Given the description of an element on the screen output the (x, y) to click on. 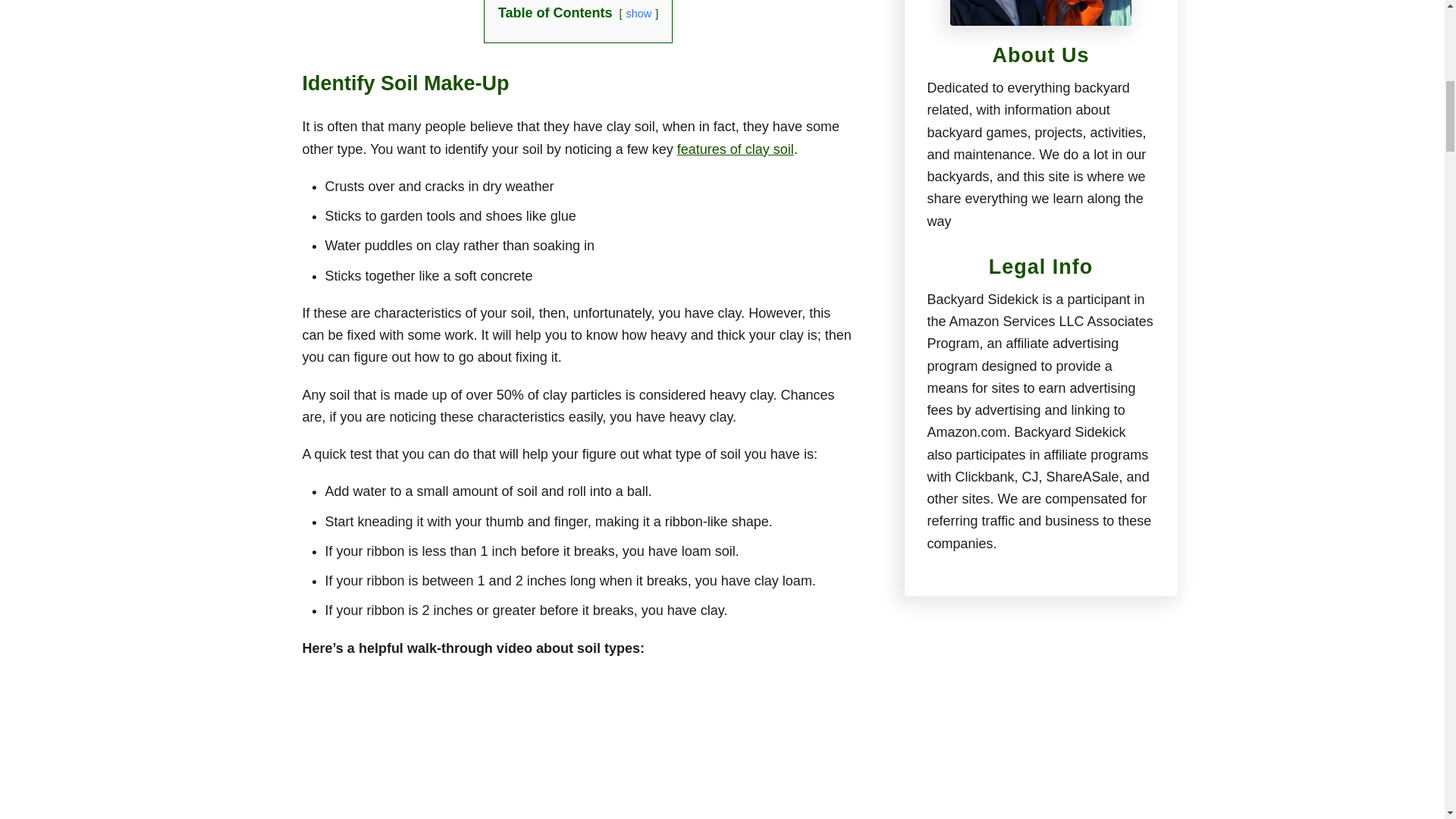
show (639, 13)
